Given the description of an element on the screen output the (x, y) to click on. 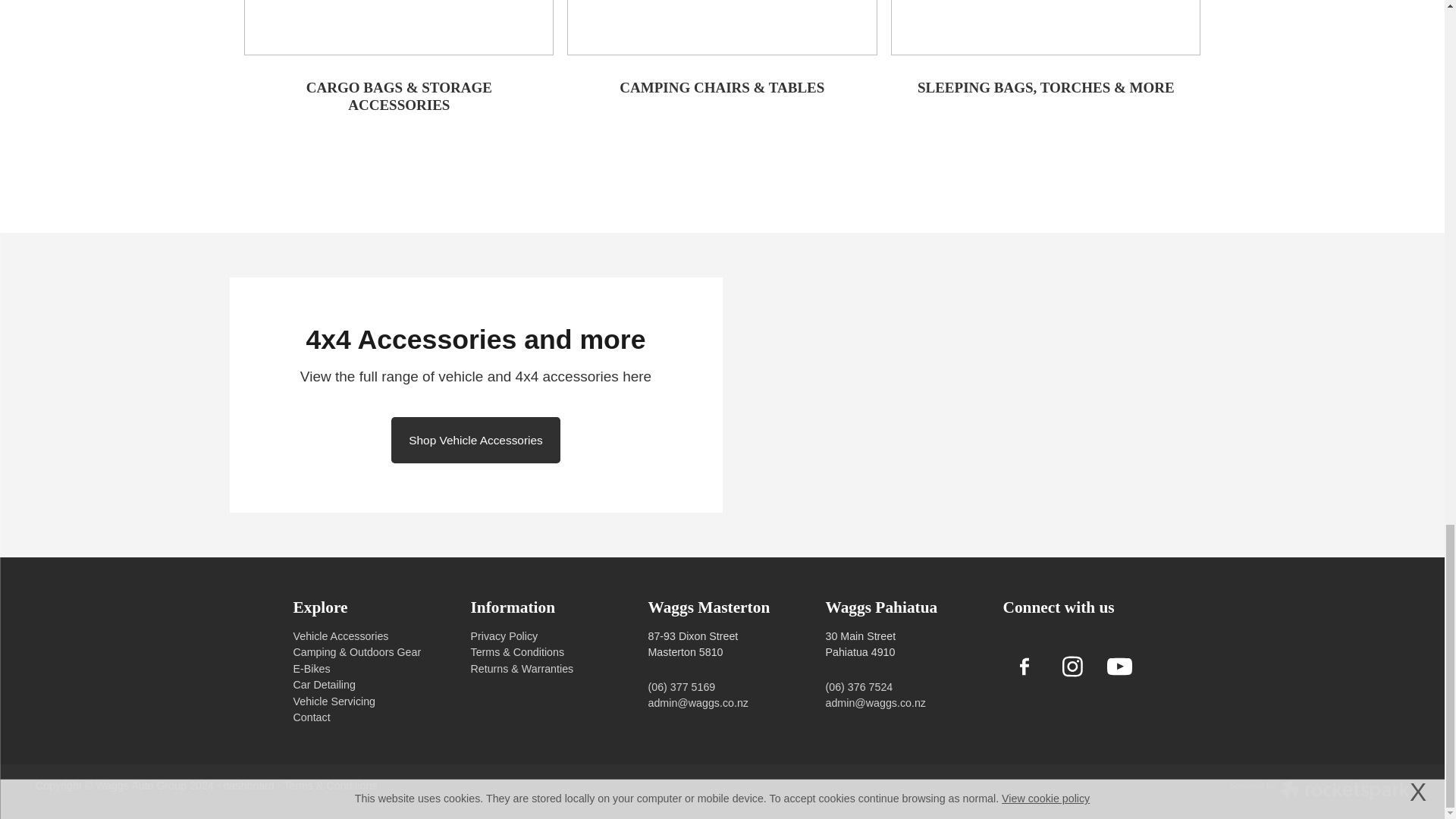
A link to this website's Instagram. (1071, 665)
Rocketspark website builder (1318, 791)
A link to this website's Youtube. (1119, 665)
A link to this website's Facebook. (1024, 665)
